Given the description of an element on the screen output the (x, y) to click on. 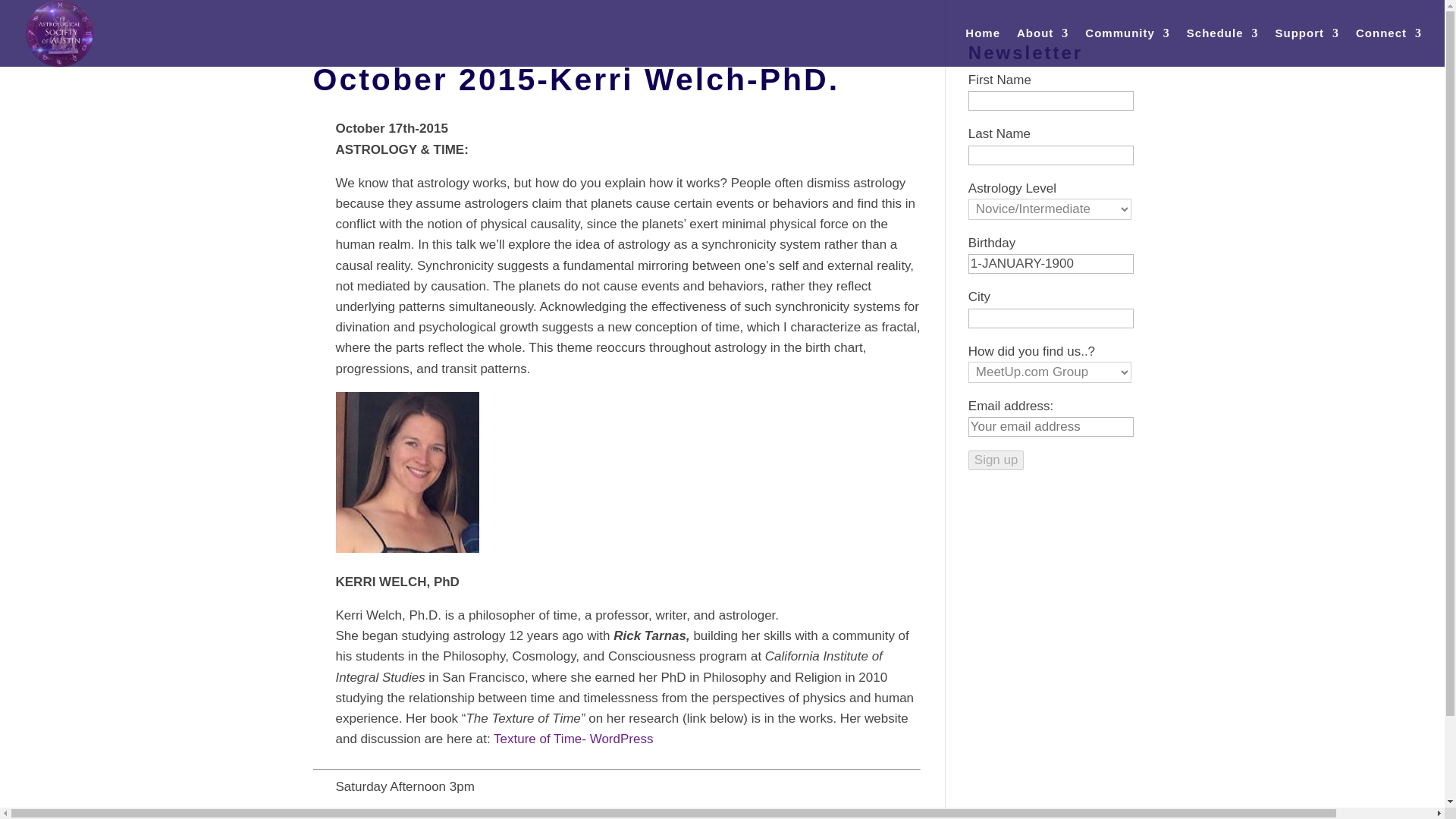
About (1042, 46)
Sign up (996, 460)
Community (1127, 46)
Connect (1388, 46)
Support (1307, 46)
1-JANUARY-1900 (1051, 263)
Sign up (996, 460)
Texture of Time- WordPress (572, 739)
Texture of Time: A Fractal Topology (636, 816)
Home (982, 46)
